Given the description of an element on the screen output the (x, y) to click on. 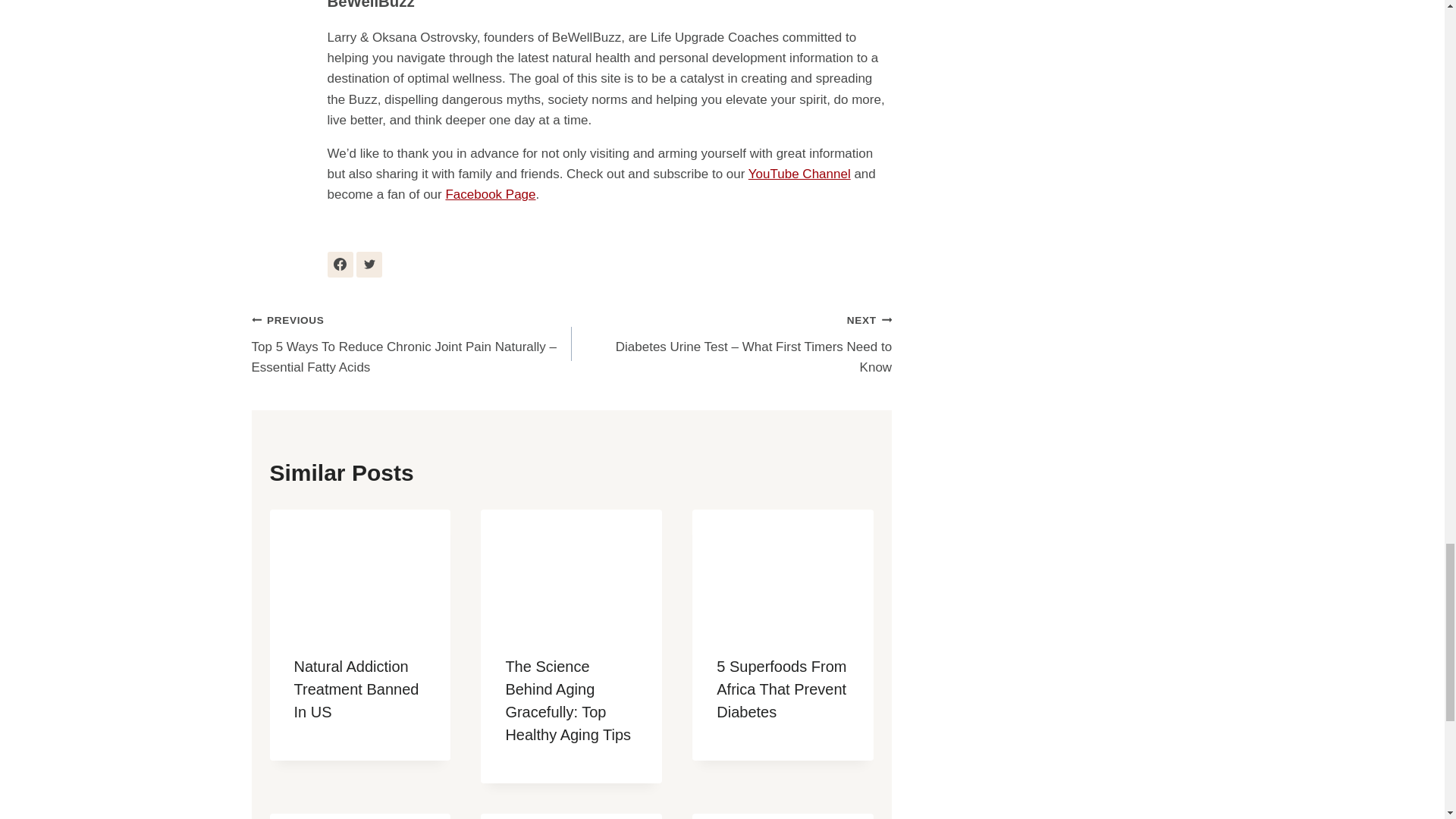
Follow BeWellBuzz on Twitter (368, 264)
Follow BeWellBuzz on Facebook (340, 264)
Posts by BeWellBuzz (370, 4)
